Given the description of an element on the screen output the (x, y) to click on. 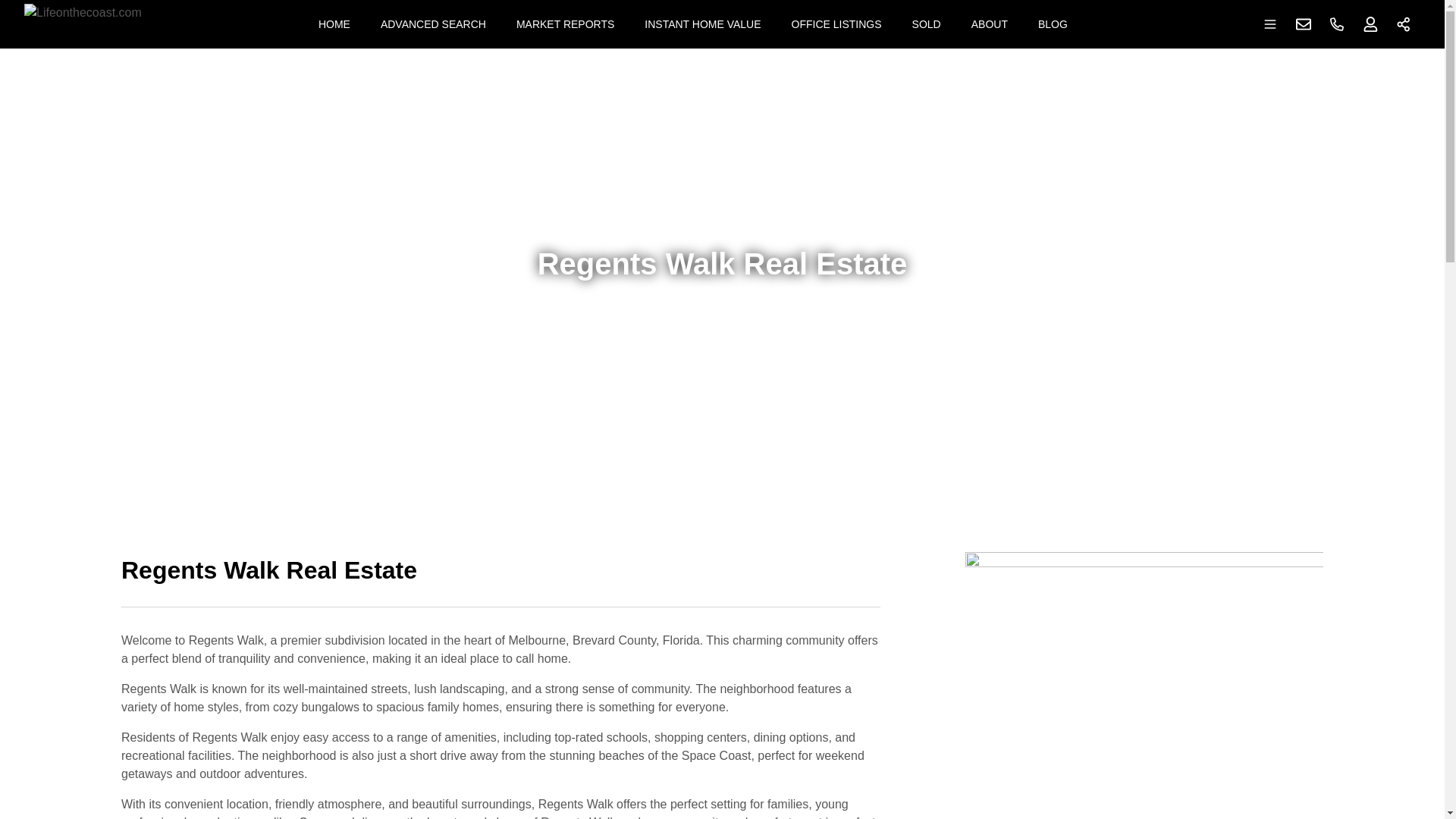
SOLD (926, 24)
Contact us (1303, 23)
MARKET REPORTS (564, 24)
Sign up or Sign in (1370, 23)
Regents Walk Real Estate (500, 579)
OFFICE LISTINGS (837, 24)
ABOUT (989, 24)
BLOG (1053, 24)
HOME (333, 24)
Phone number (1337, 23)
